Given the description of an element on the screen output the (x, y) to click on. 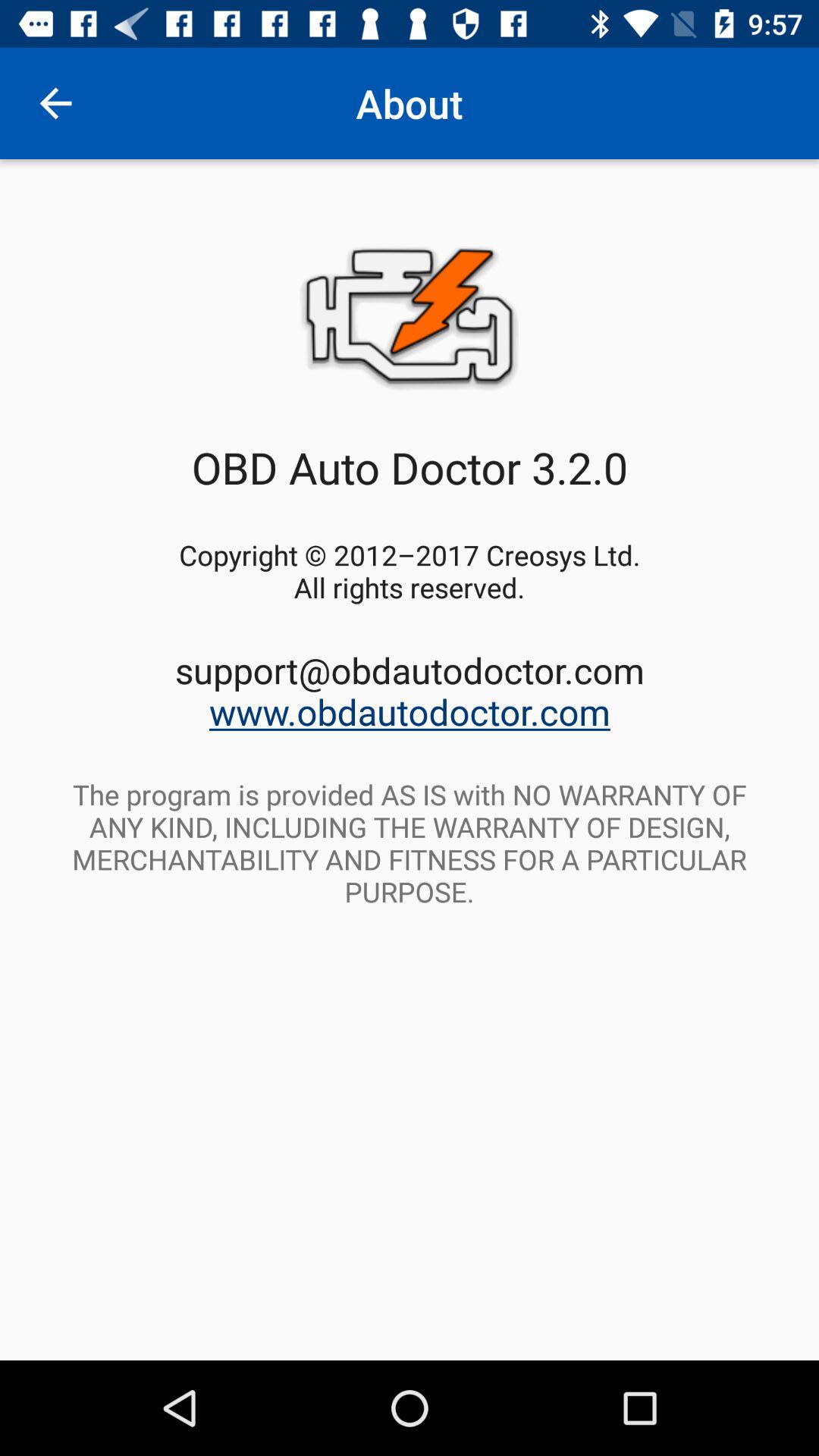
click icon at the top left corner (55, 103)
